Given the description of an element on the screen output the (x, y) to click on. 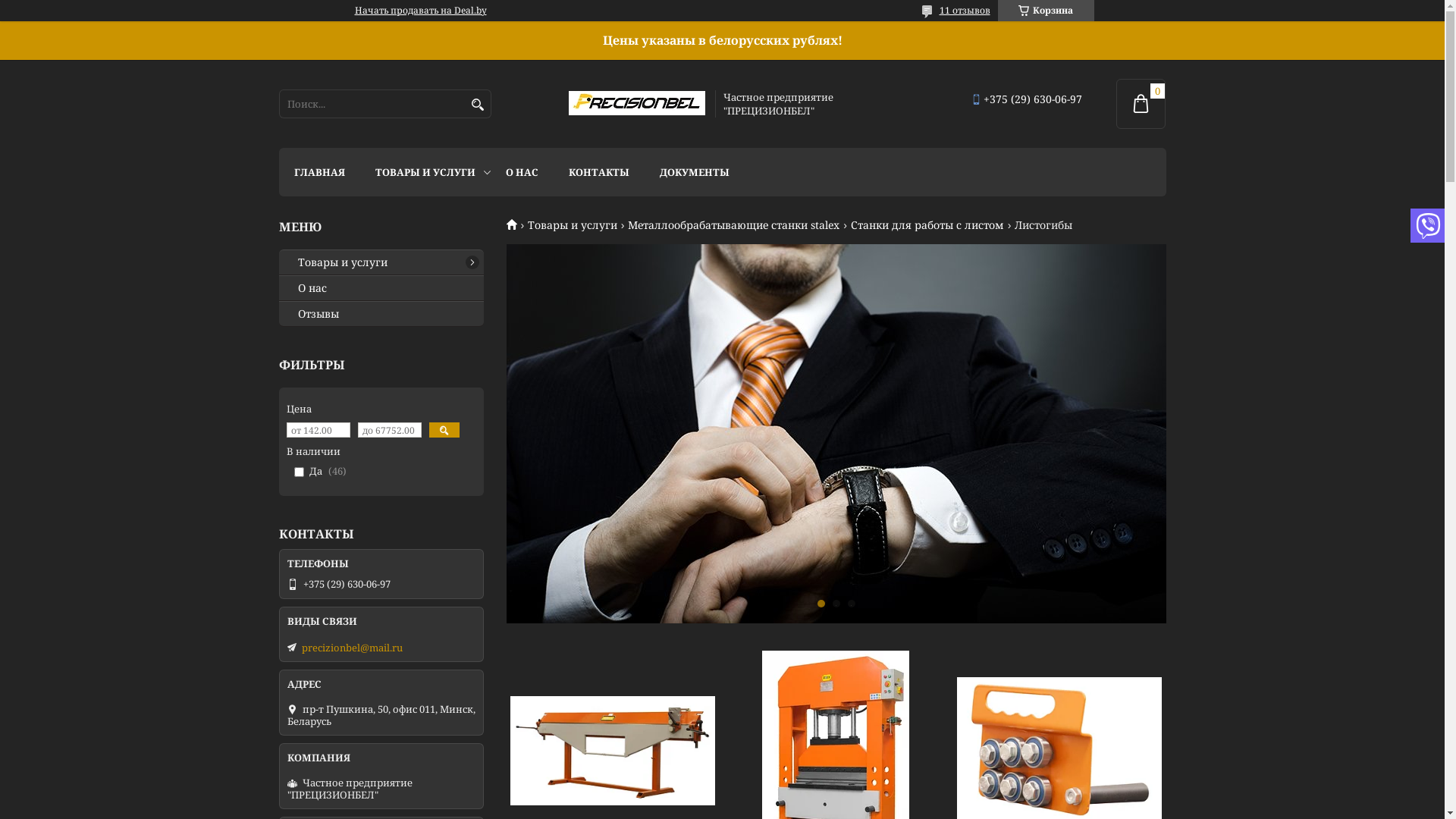
precizionbel@mail.ru Element type: text (351, 647)
